Given the description of an element on the screen output the (x, y) to click on. 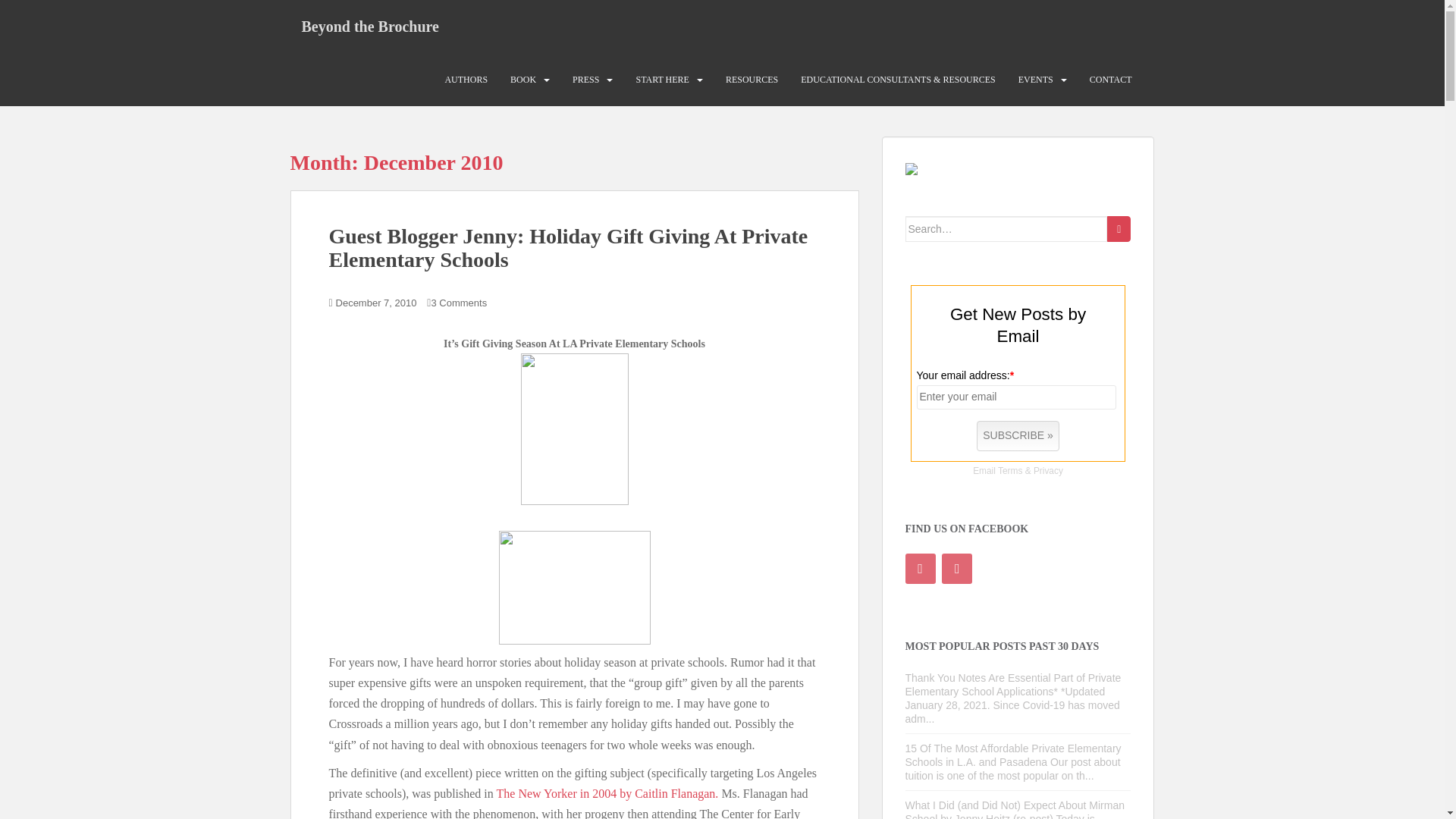
December 7, 2010 (376, 302)
Beyond the Brochure (369, 26)
Email subscriptions terms of service (1009, 470)
START HERE (661, 79)
EVENTS (1034, 79)
The New Yorker in 2004 by Caitlin Flanagan. (609, 793)
CONTACT (1110, 79)
Search for: (1006, 228)
RESOURCES (751, 79)
Enter your email (1015, 396)
Beyond the Brochure (369, 26)
3 Comments (458, 302)
Email subscriptions privacy policy (1047, 470)
AUTHORS (465, 79)
